Given the description of an element on the screen output the (x, y) to click on. 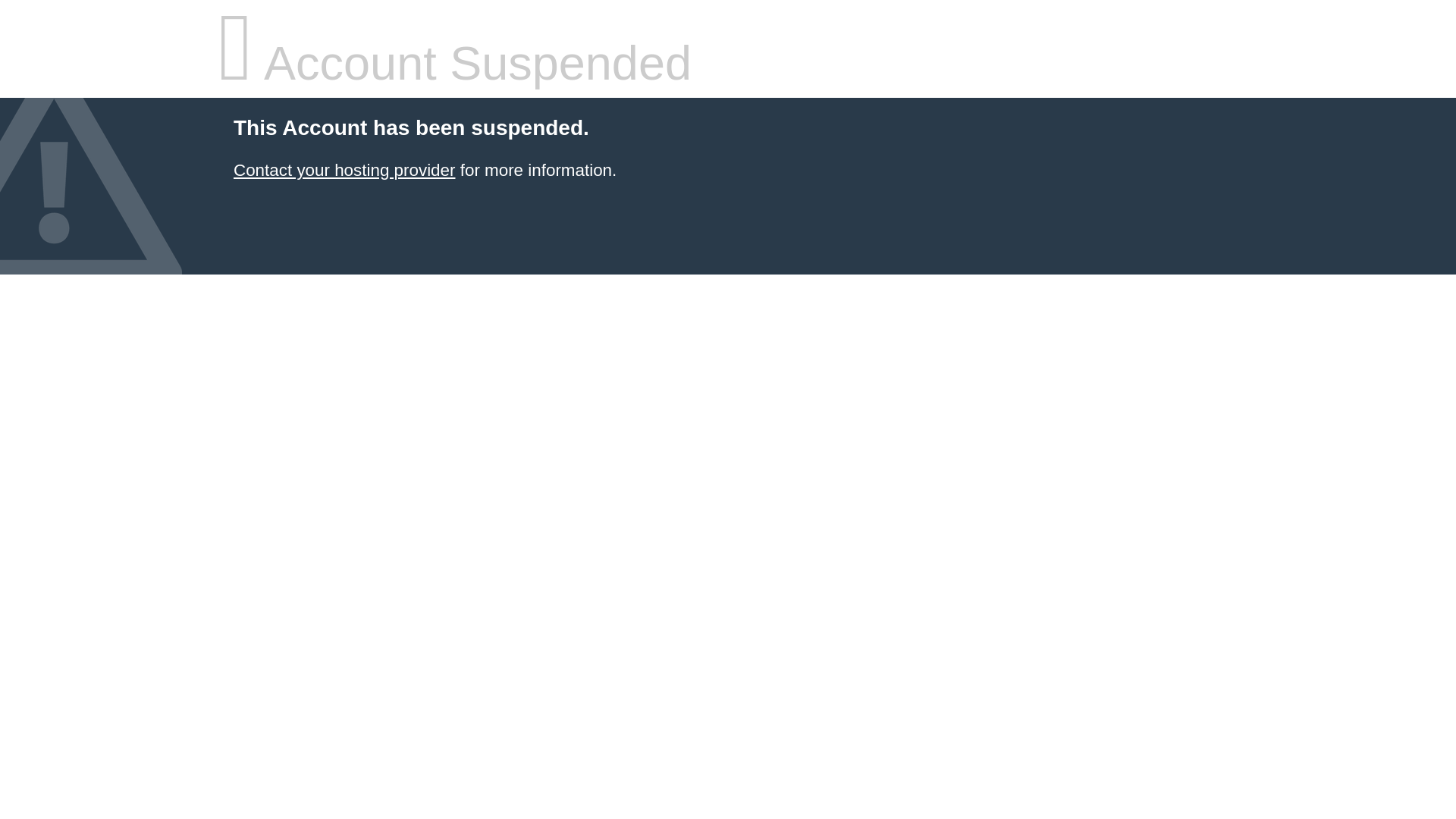
Contact your hosting provider (343, 169)
